Given the description of an element on the screen output the (x, y) to click on. 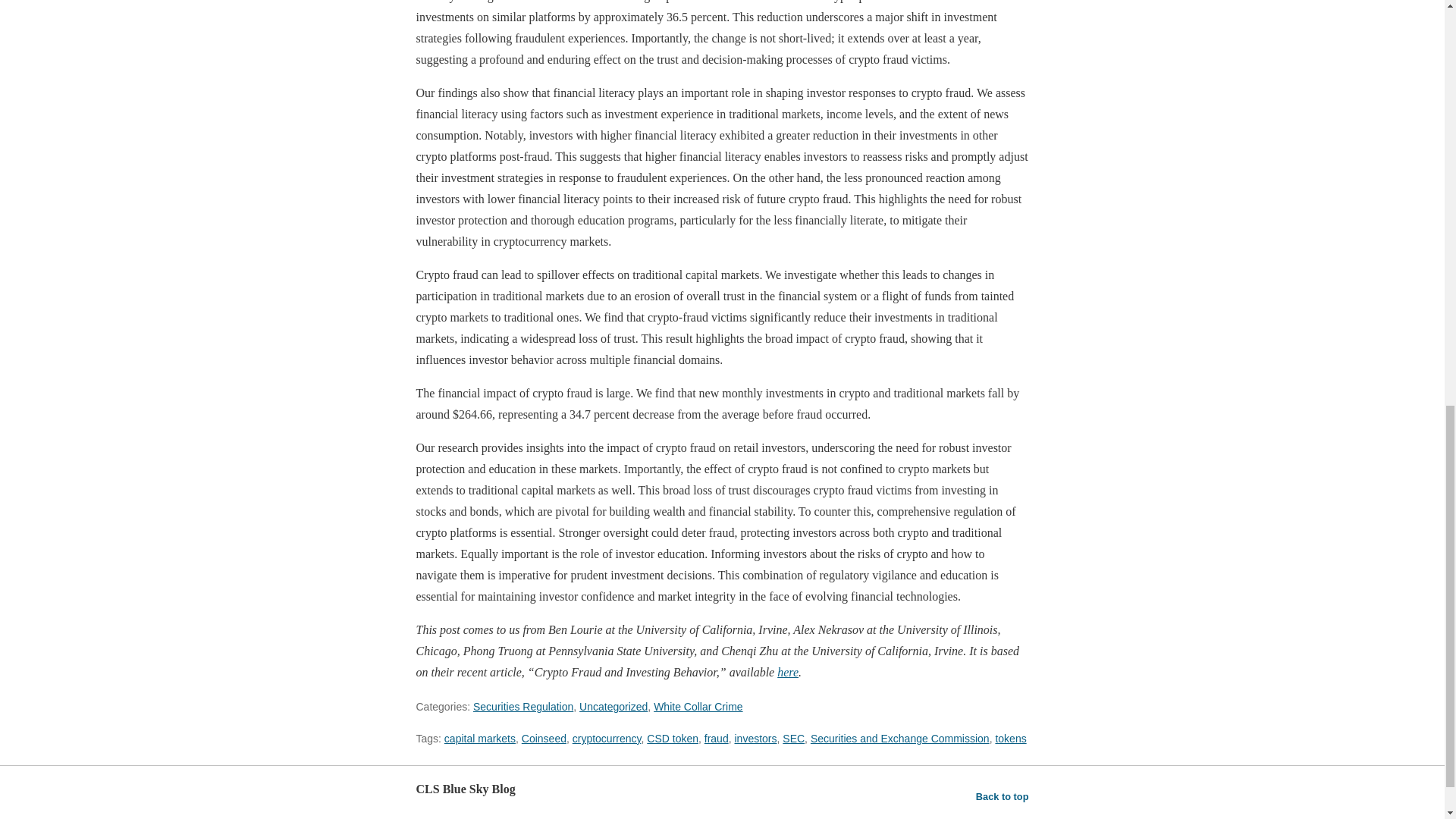
tokens (1010, 738)
Securities Regulation (523, 706)
Back to top (1002, 796)
cryptocurrency (607, 738)
fraud (716, 738)
Securities and Exchange Commission (900, 738)
here (787, 671)
investors (754, 738)
SEC (794, 738)
Uncategorized (613, 706)
White Collar Crime (697, 706)
Coinseed (543, 738)
capital markets (479, 738)
CSD token (672, 738)
